Given the description of an element on the screen output the (x, y) to click on. 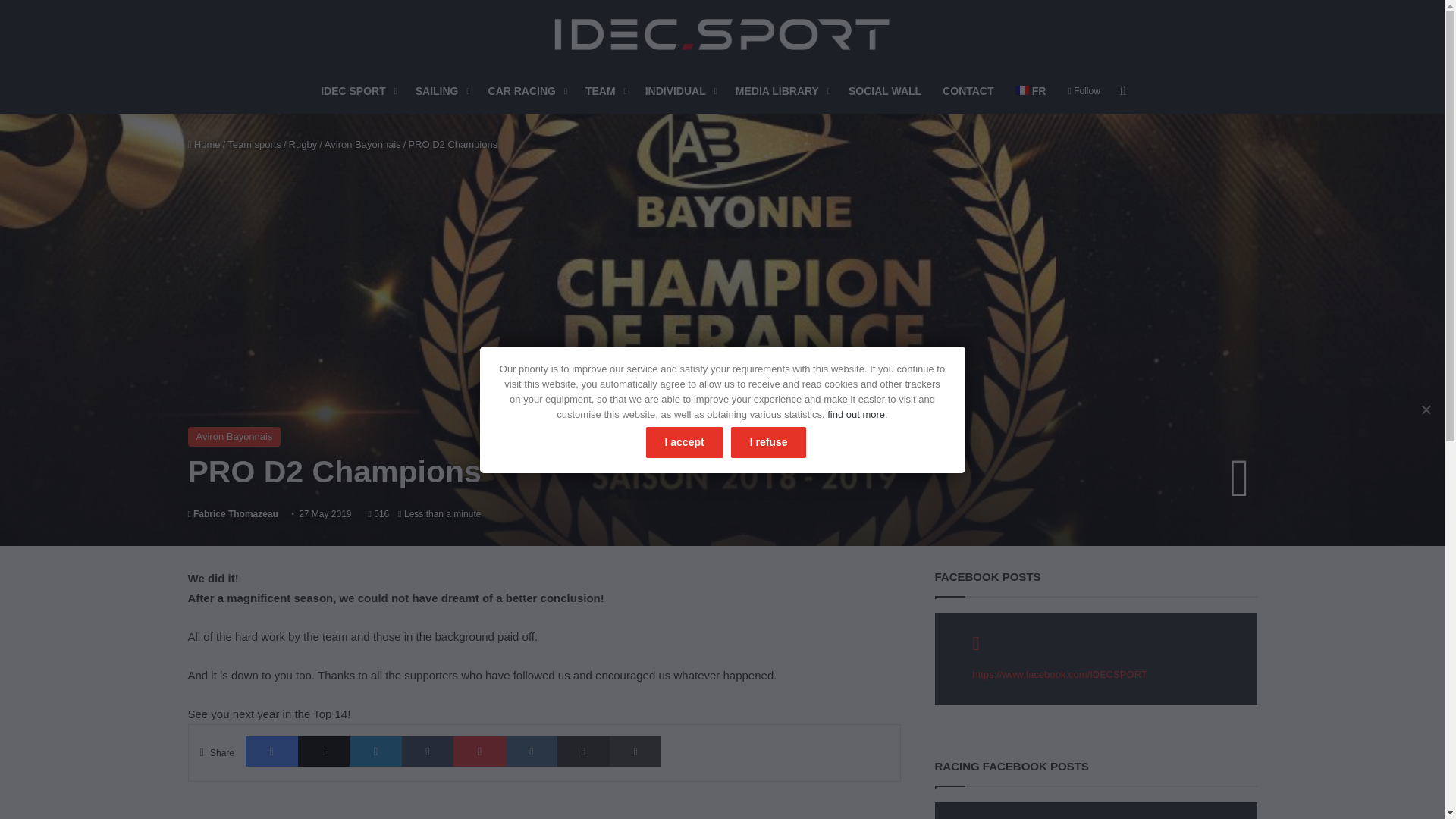
Print (636, 751)
IDEC SPORT (357, 90)
SAILING (440, 90)
INDIVIDUAL (679, 90)
Facebook (272, 751)
Fabrice Thomazeau (232, 513)
CAR RACING (526, 90)
TEAM (604, 90)
VKontakte (531, 751)
Share via Email (583, 751)
FR (1030, 90)
X (324, 751)
LinkedIn (375, 751)
Tumblr (427, 751)
MEDIA LIBRARY (781, 90)
